Given the description of an element on the screen output the (x, y) to click on. 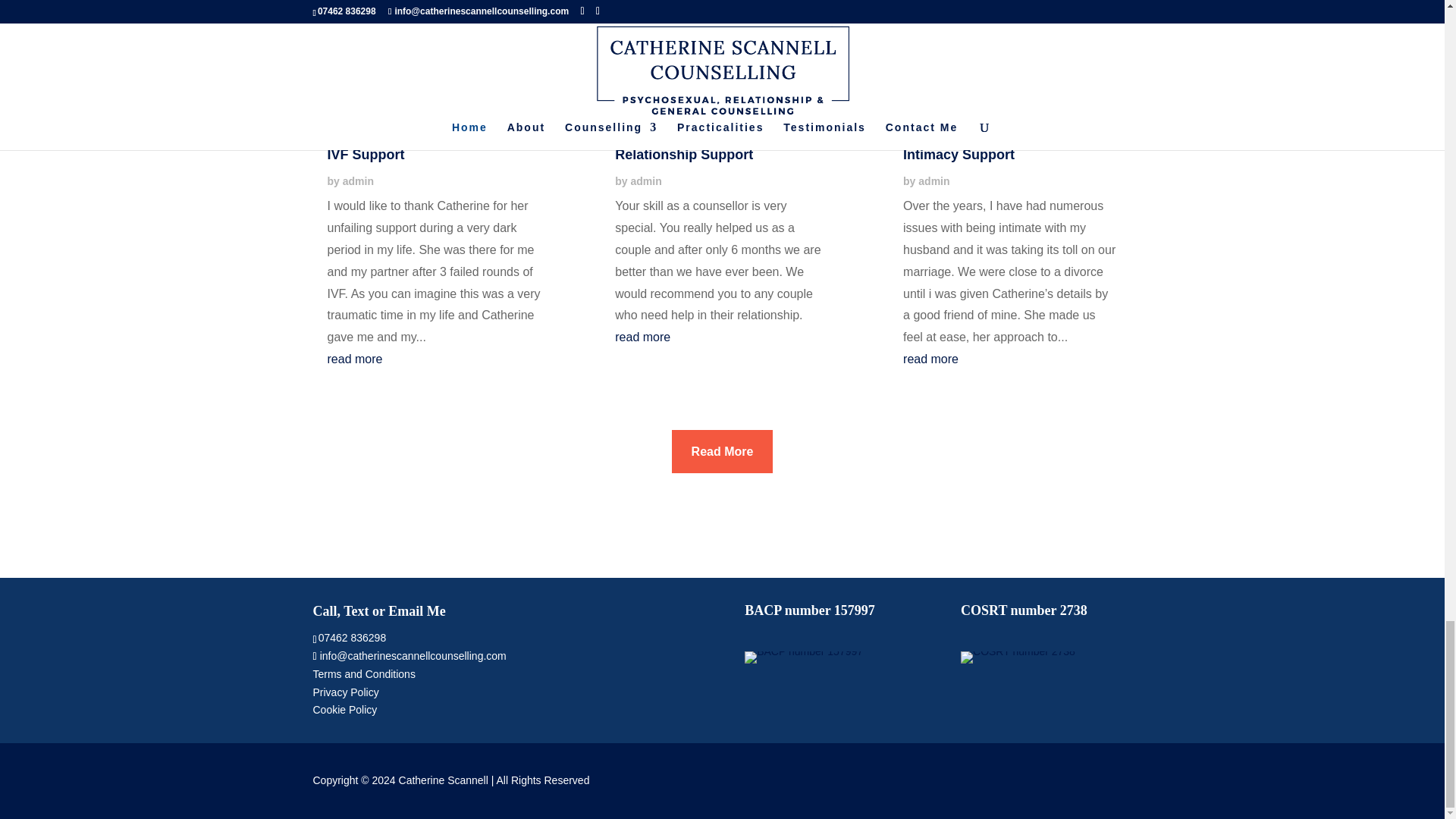
IVF Support (365, 154)
BACPAccred (803, 657)
admin (933, 181)
read more (930, 358)
Posts by admin (358, 181)
read more (641, 336)
Posts by admin (646, 181)
admin (358, 181)
Relationship Support (683, 154)
Posts by admin (933, 181)
Read More (722, 451)
read more (354, 358)
admin (646, 181)
07462 836298 (354, 637)
Intimacy Support (958, 154)
